Given the description of an element on the screen output the (x, y) to click on. 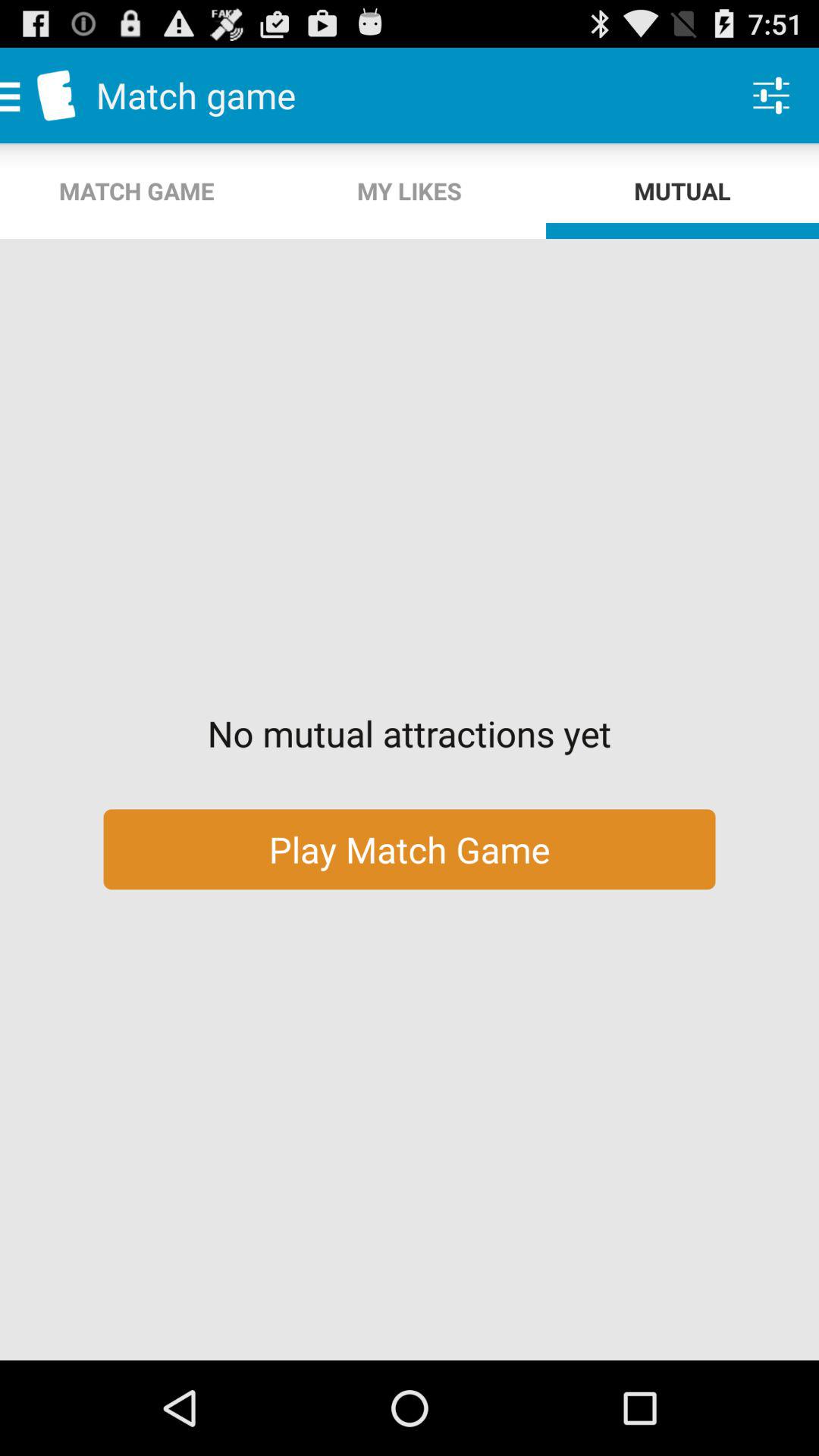
turn off app above no mutual attractions (409, 190)
